Given the description of an element on the screen output the (x, y) to click on. 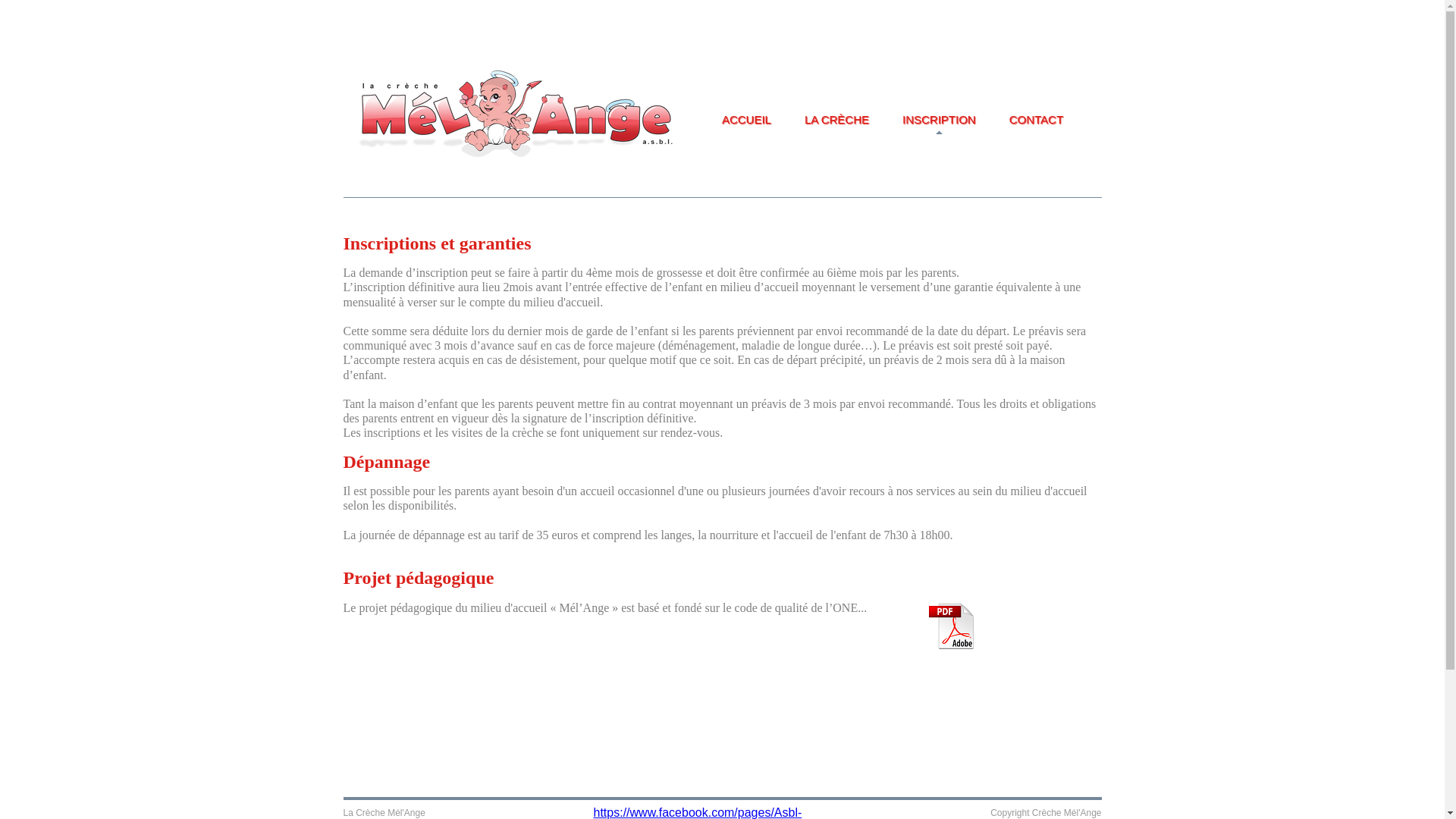
INSCRIPTION Element type: text (938, 117)
ACCUEIL Element type: text (746, 117)
CONTACT Element type: text (1036, 117)
